Given the description of an element on the screen output the (x, y) to click on. 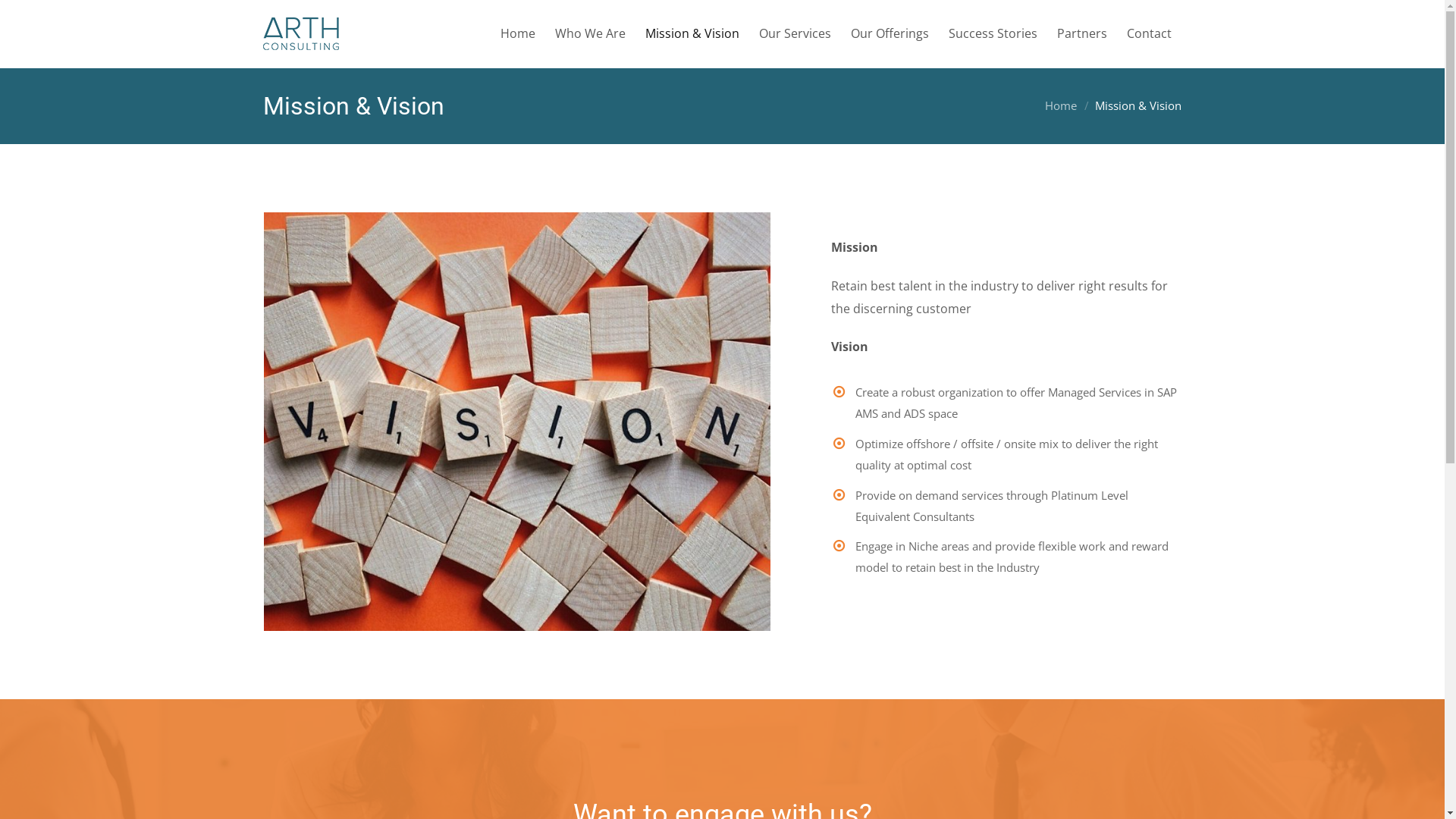
Home Element type: text (517, 34)
Mission & Vision Element type: text (692, 34)
Success Stories Element type: text (992, 34)
Contact Element type: text (1149, 34)
Our Services Element type: text (794, 34)
Our Offerings Element type: text (889, 34)
Who We Are Element type: text (590, 34)
Home Element type: text (1060, 104)
Partners Element type: text (1082, 34)
arth-vision Element type: hover (517, 421)
